Given the description of an element on the screen output the (x, y) to click on. 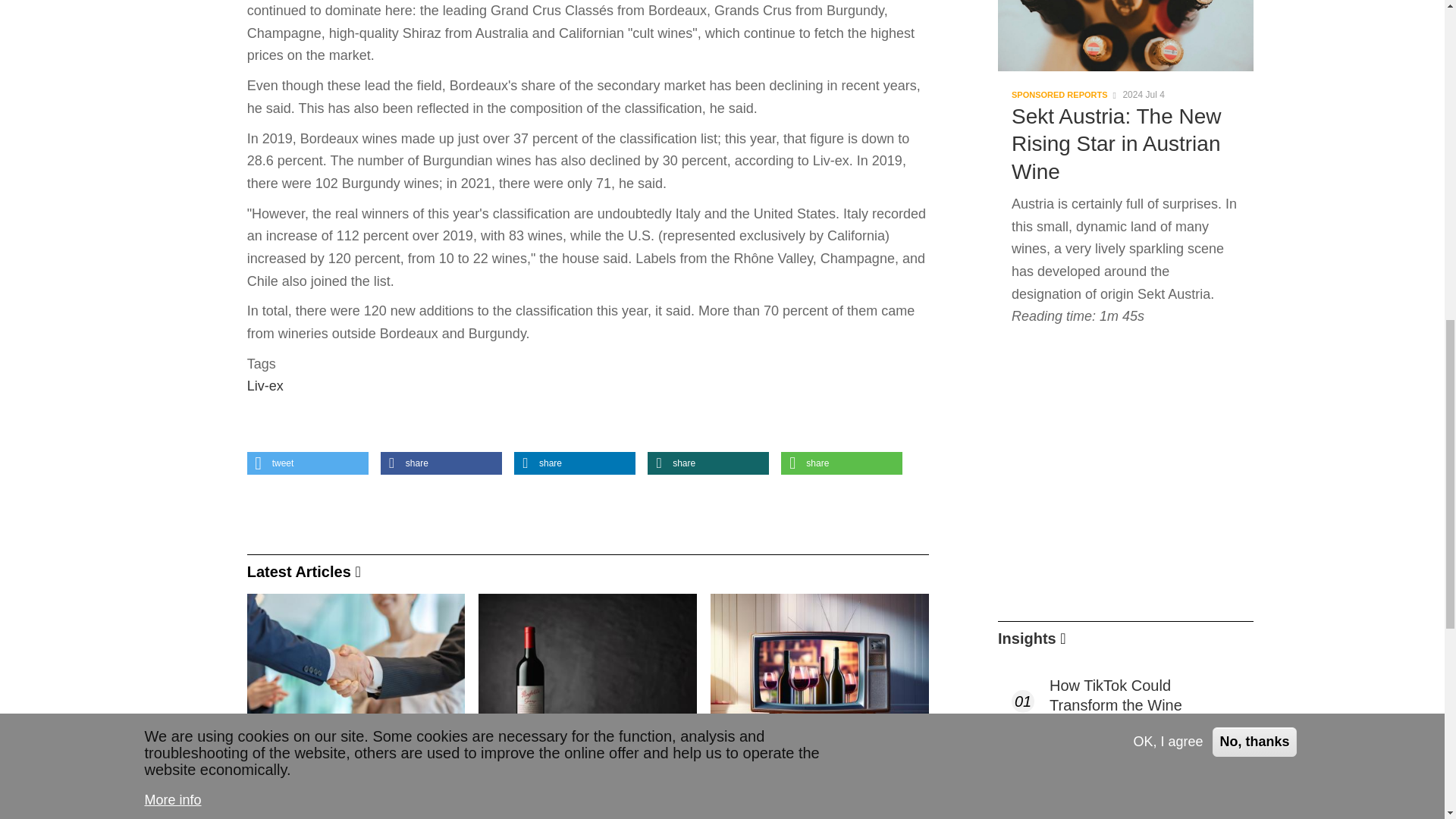
The Cost of Premiumisation (1144, 763)
tweet (307, 463)
SPONSORED REPORTS (1059, 94)
share (707, 463)
Share on LinkedIn (573, 463)
Sekt Austria: The New Rising Star in Austrian Wine (1125, 136)
NEWS (272, 803)
Insights (1027, 638)
Share on XING (707, 463)
